Given the description of an element on the screen output the (x, y) to click on. 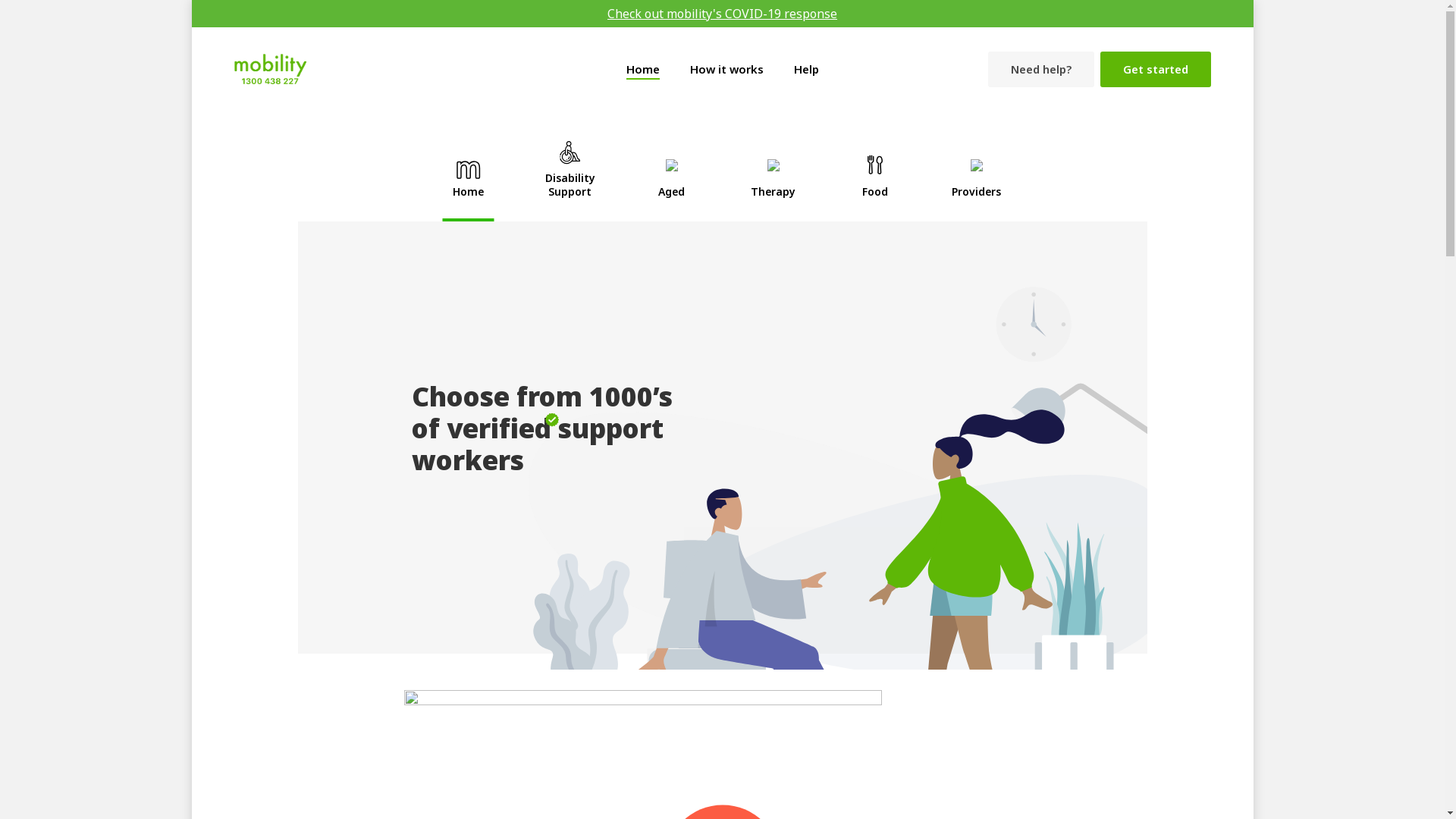
Check out mobility's COVID-19 response Element type: text (722, 13)
Help Element type: text (805, 68)
Get started Element type: text (1154, 69)
How it works Element type: text (726, 68)
Need help? Element type: text (1040, 69)
Home Element type: text (642, 68)
